Given the description of an element on the screen output the (x, y) to click on. 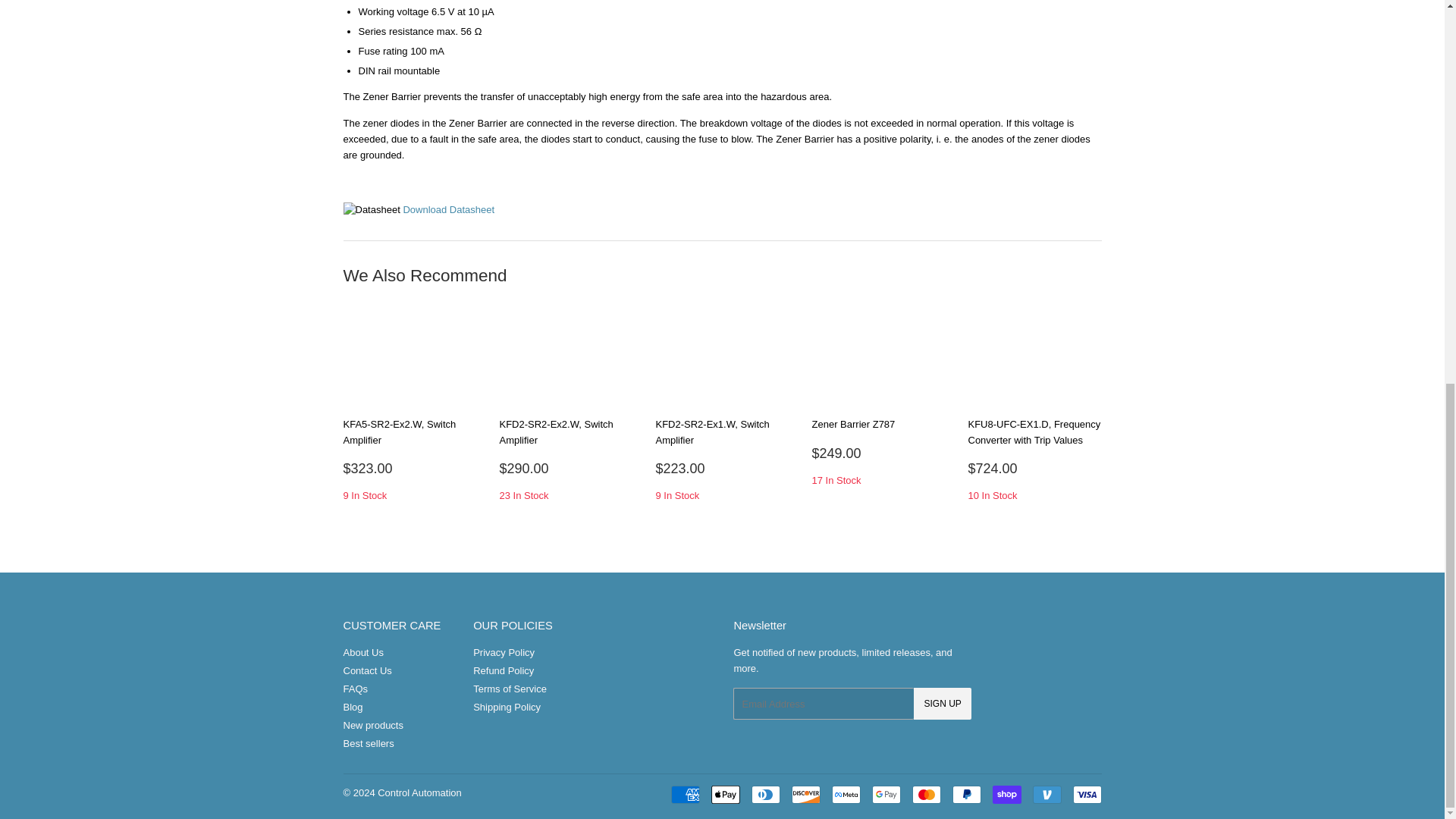
Contact Us (366, 670)
Diners Club (764, 794)
Blog (352, 706)
Meta Pay (845, 794)
Venmo (1046, 794)
Mastercard (925, 794)
Apple Pay (725, 794)
Visa (1085, 794)
Download Datasheet (449, 209)
About Us (362, 652)
Shop Pay (1005, 794)
Discover (806, 794)
American Express (683, 794)
PayPal (966, 794)
Google Pay (886, 794)
